Given the description of an element on the screen output the (x, y) to click on. 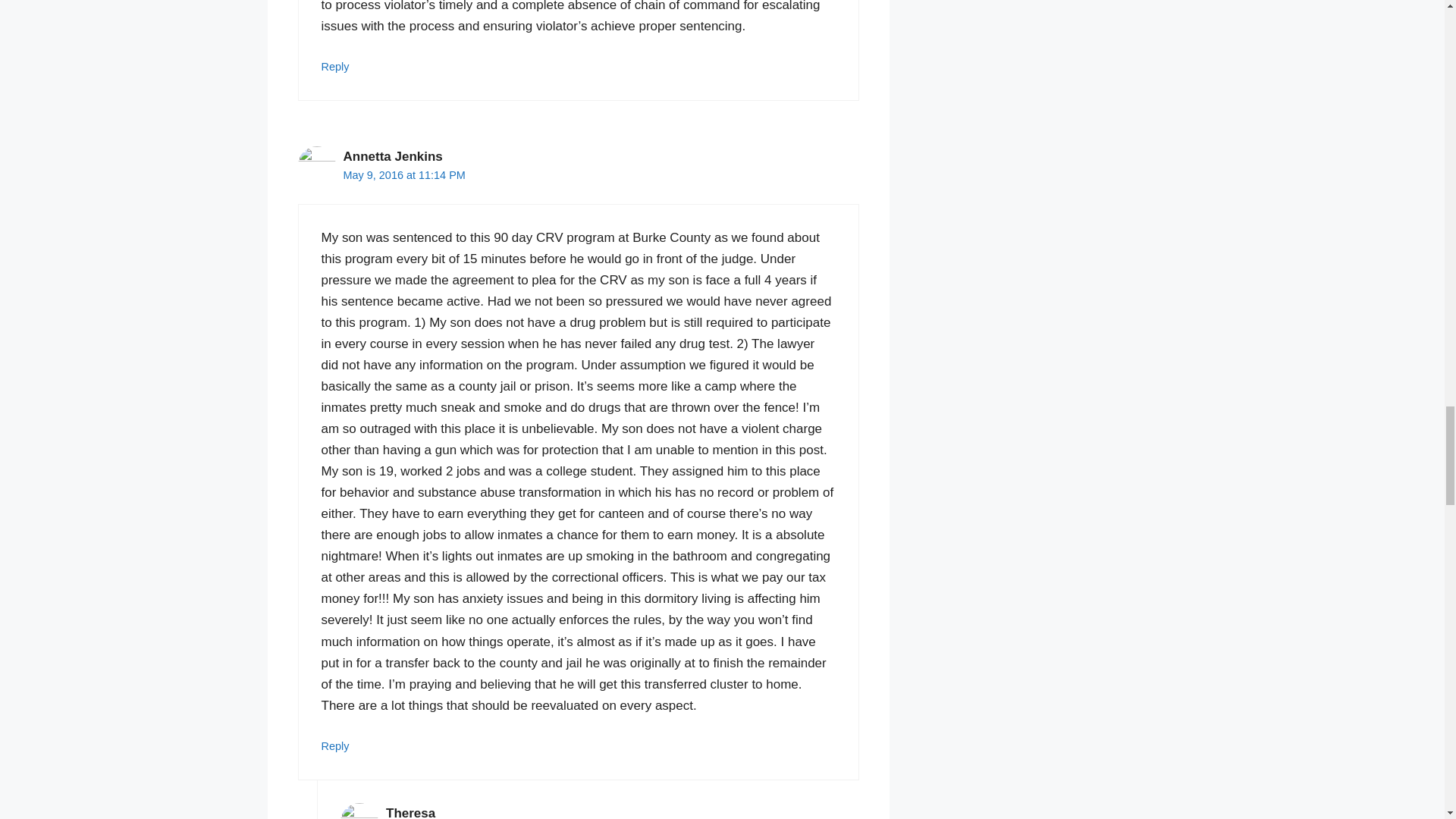
Reply (335, 746)
May 9, 2016 at 11:14 PM (403, 174)
Reply (335, 66)
